Given the description of an element on the screen output the (x, y) to click on. 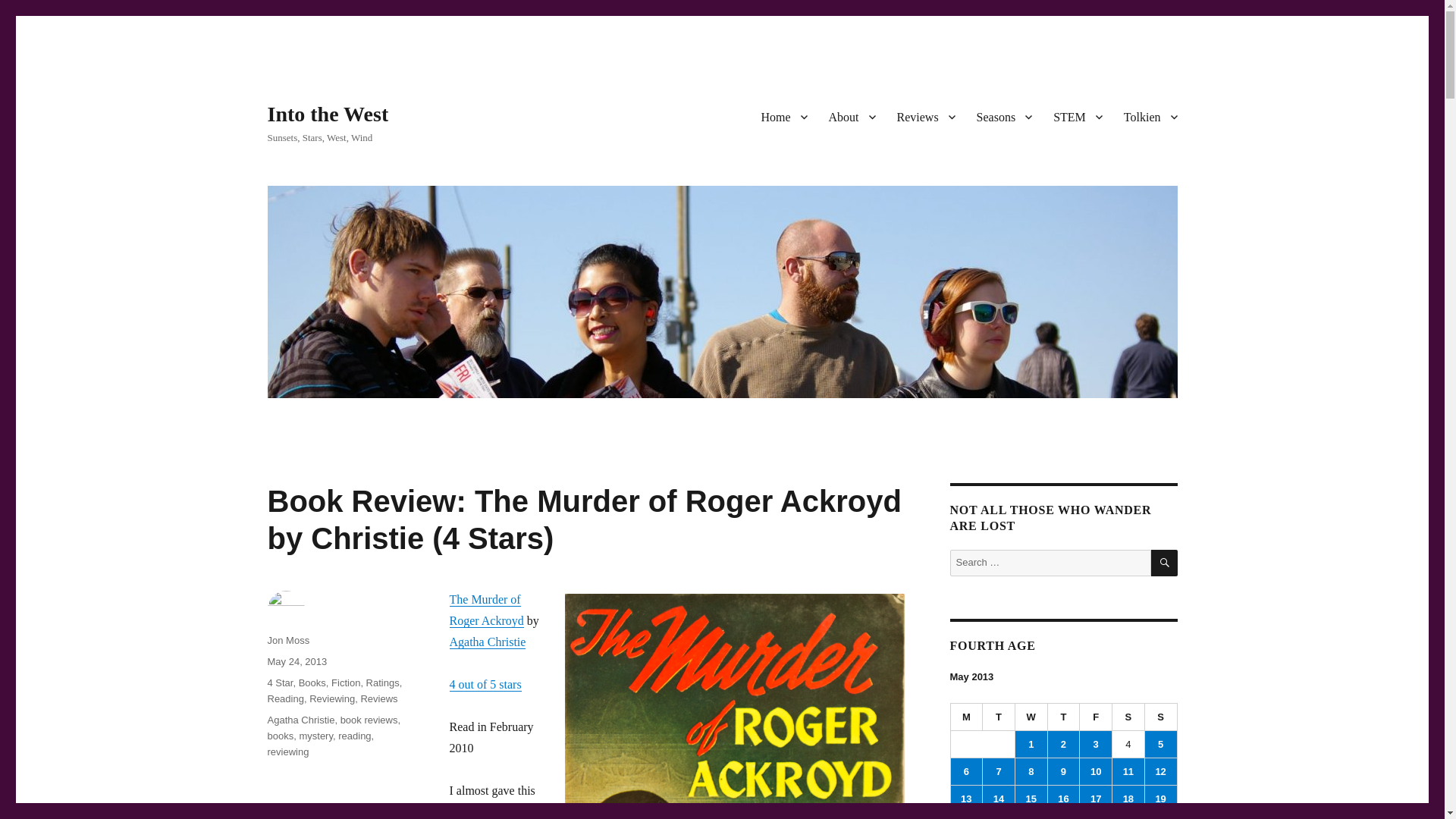
Friday (1096, 717)
Reviews (925, 116)
Thursday (1064, 717)
Seasons (1004, 116)
Sunday (1160, 717)
Saturday (1128, 717)
Tuesday (998, 717)
Home (782, 116)
Into the West (327, 114)
Monday (967, 717)
Wednesday (1031, 717)
About (850, 116)
